Given the description of an element on the screen output the (x, y) to click on. 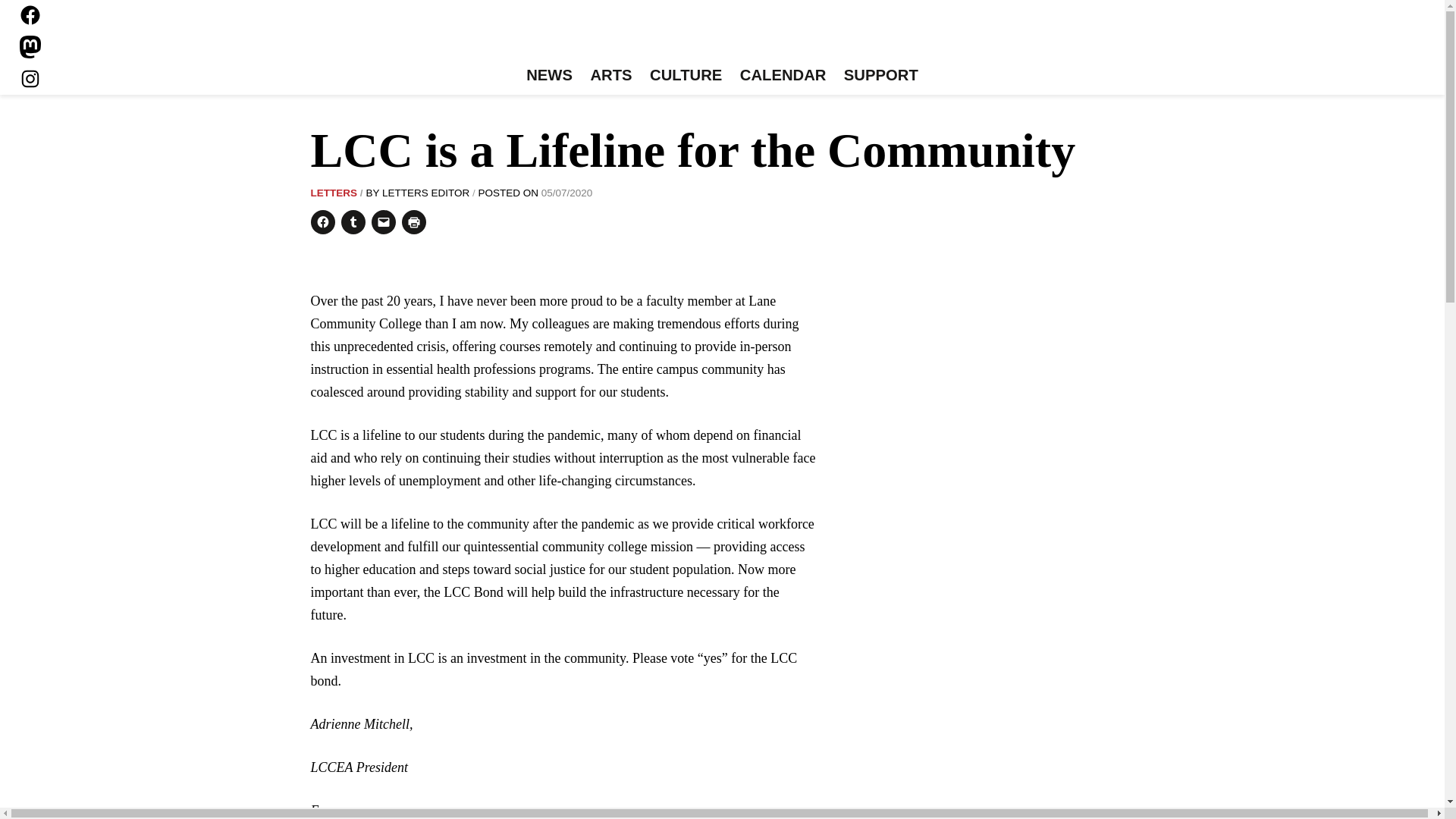
Facebook (30, 15)
Click to email a link to a friend (383, 221)
Click to share on Tumblr (352, 221)
NEWS (548, 75)
Click to share on Facebook (322, 221)
Click to print (413, 221)
SUPPORT (880, 75)
CALENDAR (782, 75)
CULTURE (685, 75)
Instagram (30, 78)
ARTS (611, 75)
Eugene Weekly (721, 37)
Mastodon (30, 47)
